Given the description of an element on the screen output the (x, y) to click on. 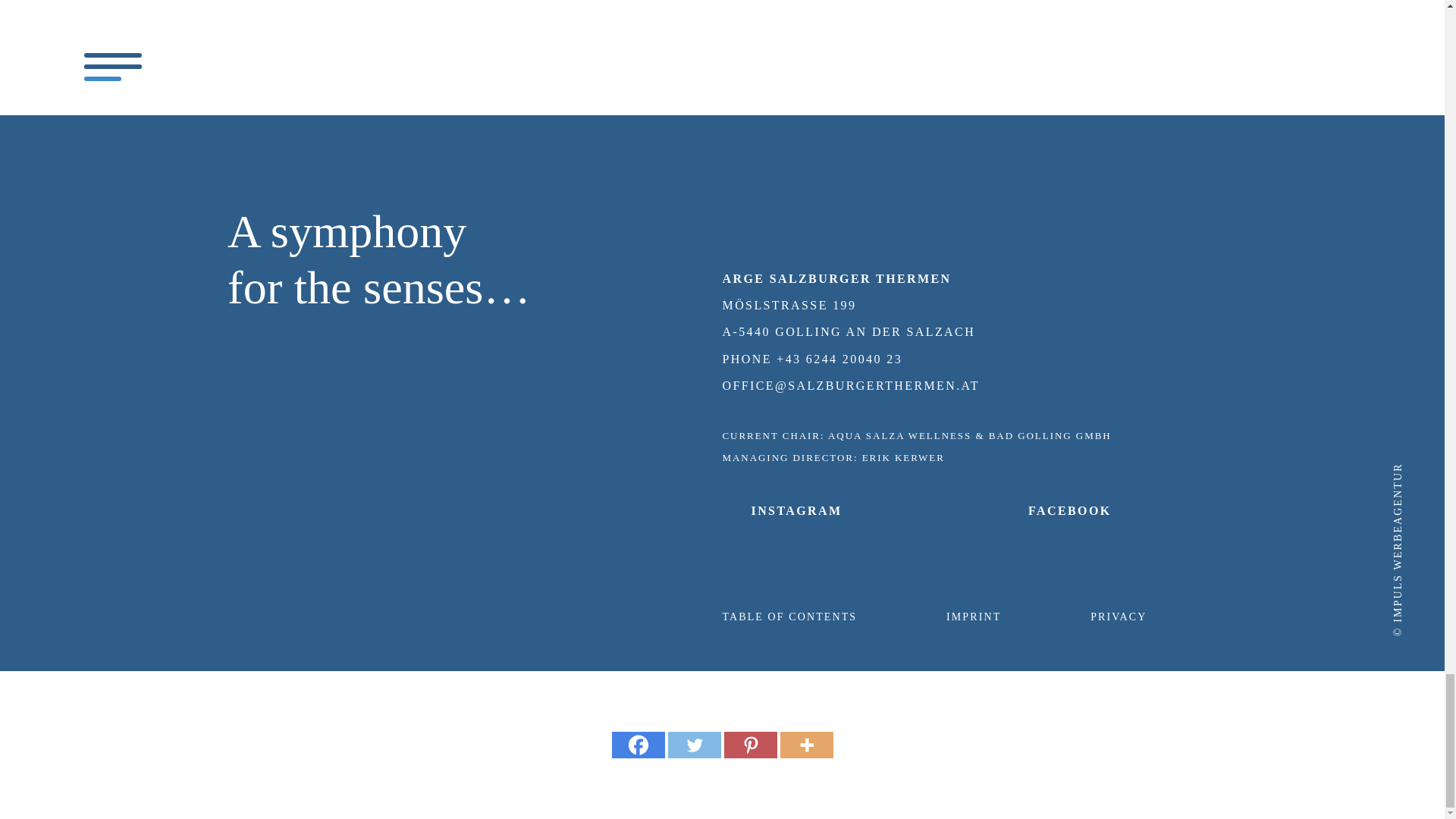
Facebook (637, 745)
Pinterest (749, 745)
Twitter (693, 745)
PRIVACY (1118, 616)
TABLE OF CONTENTS (789, 616)
IMPRINT (973, 616)
More (805, 745)
